Given the description of an element on the screen output the (x, y) to click on. 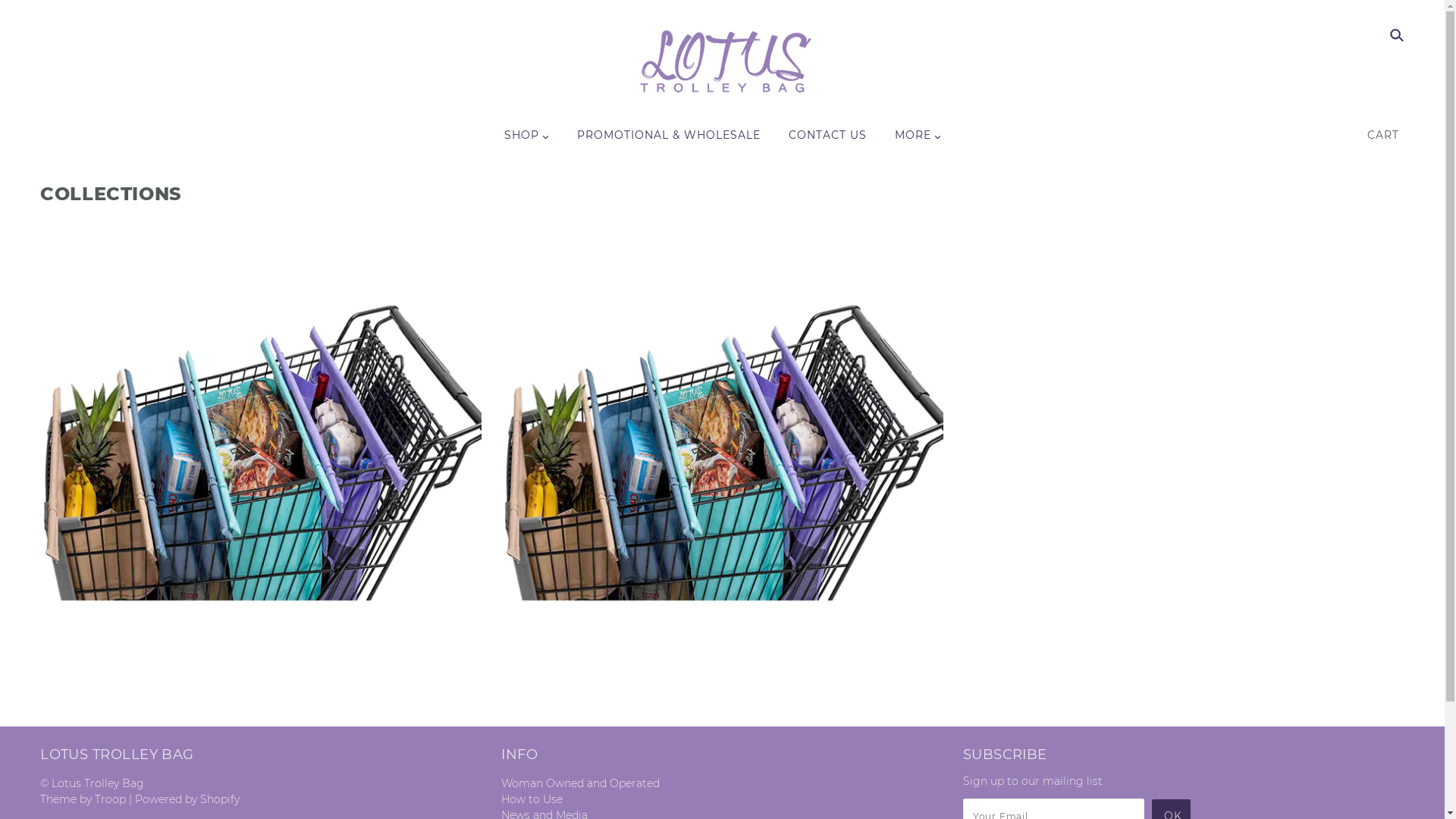
PROMOTIONAL & WHOLESALE Element type: text (667, 140)
How to Use Element type: text (531, 799)
lotustrolleybag.com.au Element type: hover (722, 64)
Powered by Shopify Element type: text (186, 799)
Theme by Troop Element type: text (82, 799)
CONTACT US Element type: text (827, 140)
Woman Owned and Operated Element type: text (580, 783)
CART Element type: text (1386, 134)
SHOP Element type: text (526, 140)
MORE Element type: text (917, 140)
